Given the description of an element on the screen output the (x, y) to click on. 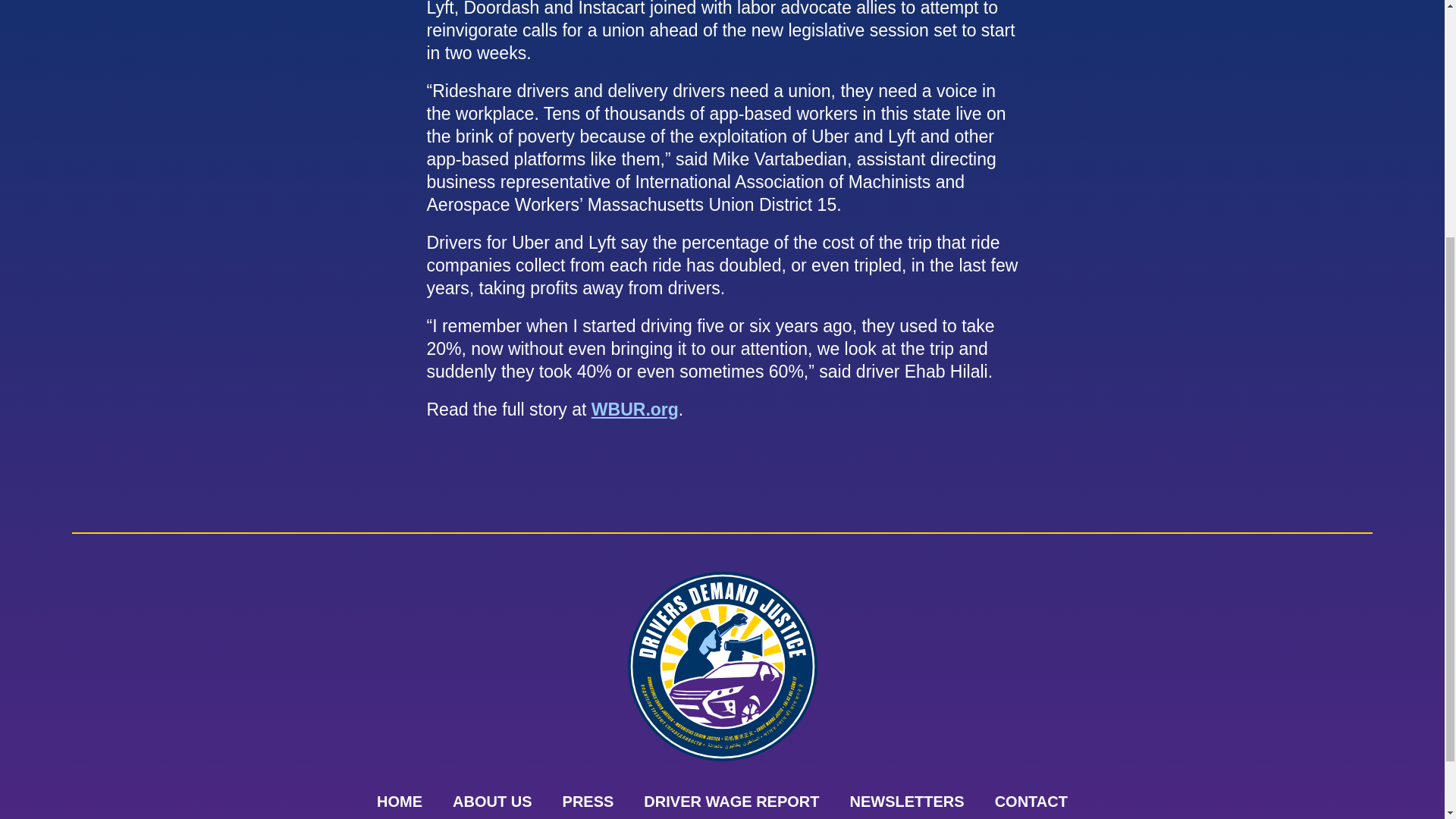
WBUR.org (634, 409)
